Given the description of an element on the screen output the (x, y) to click on. 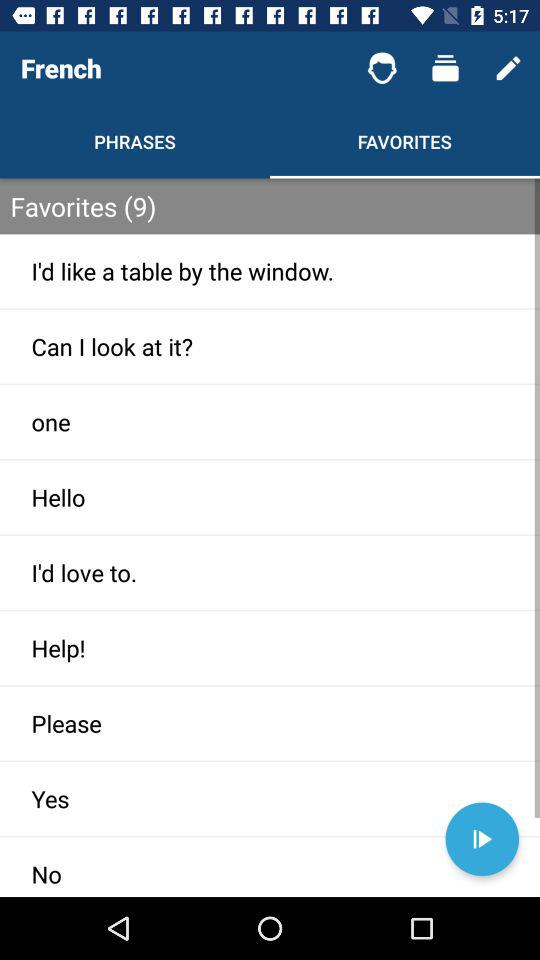
turn off icon next to the french (381, 67)
